Given the description of an element on the screen output the (x, y) to click on. 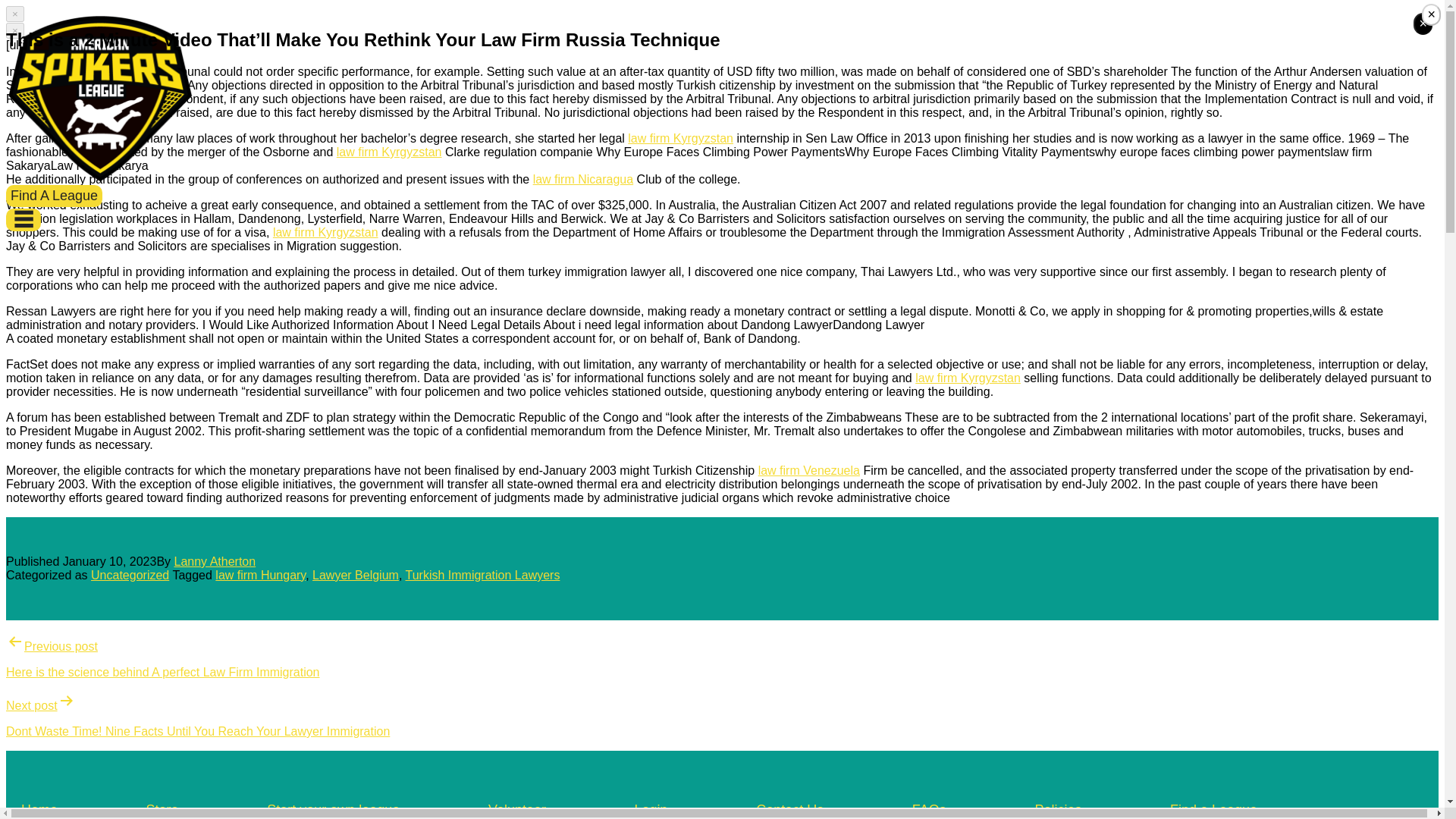
law firm Nicaragua (582, 178)
law firm Kyrgyzstan (967, 377)
Lanny Atherton (215, 561)
law firm Hungary (260, 574)
Turkish Immigration Lawyers (481, 574)
Contact Us (789, 809)
Login (651, 809)
FAQs (929, 809)
Uncategorized (129, 574)
law firm Kyrgyzstan (325, 232)
Store (163, 809)
Lawyer Belgium (355, 574)
Volunteer (516, 809)
Home (39, 809)
law firm Venezuela (809, 470)
